Given the description of an element on the screen output the (x, y) to click on. 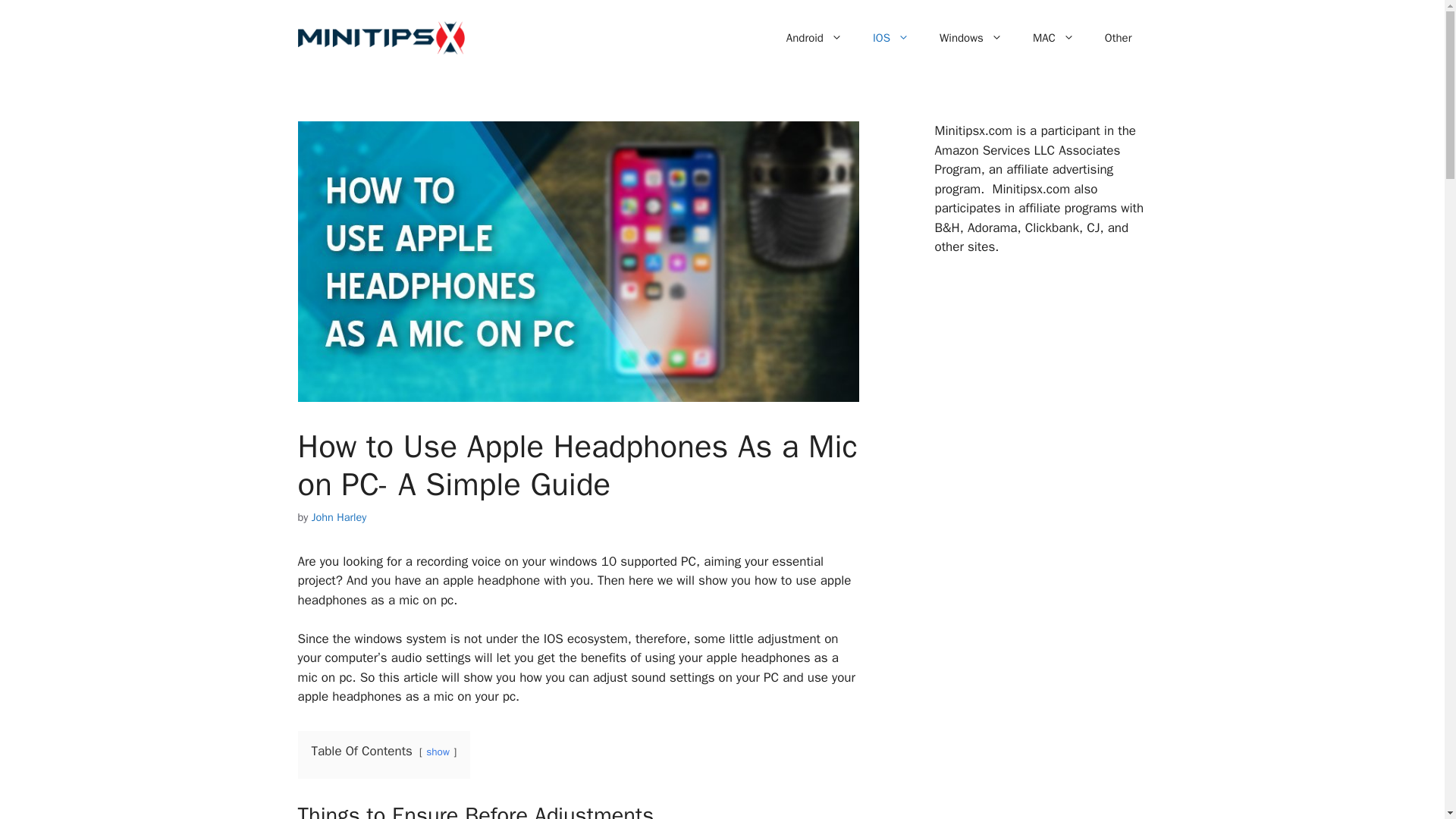
John Harley (338, 517)
show (437, 751)
Other (1118, 37)
IOS (890, 37)
View all posts by John Harley (338, 517)
Windows (970, 37)
Android (814, 37)
MAC (1053, 37)
